Given the description of an element on the screen output the (x, y) to click on. 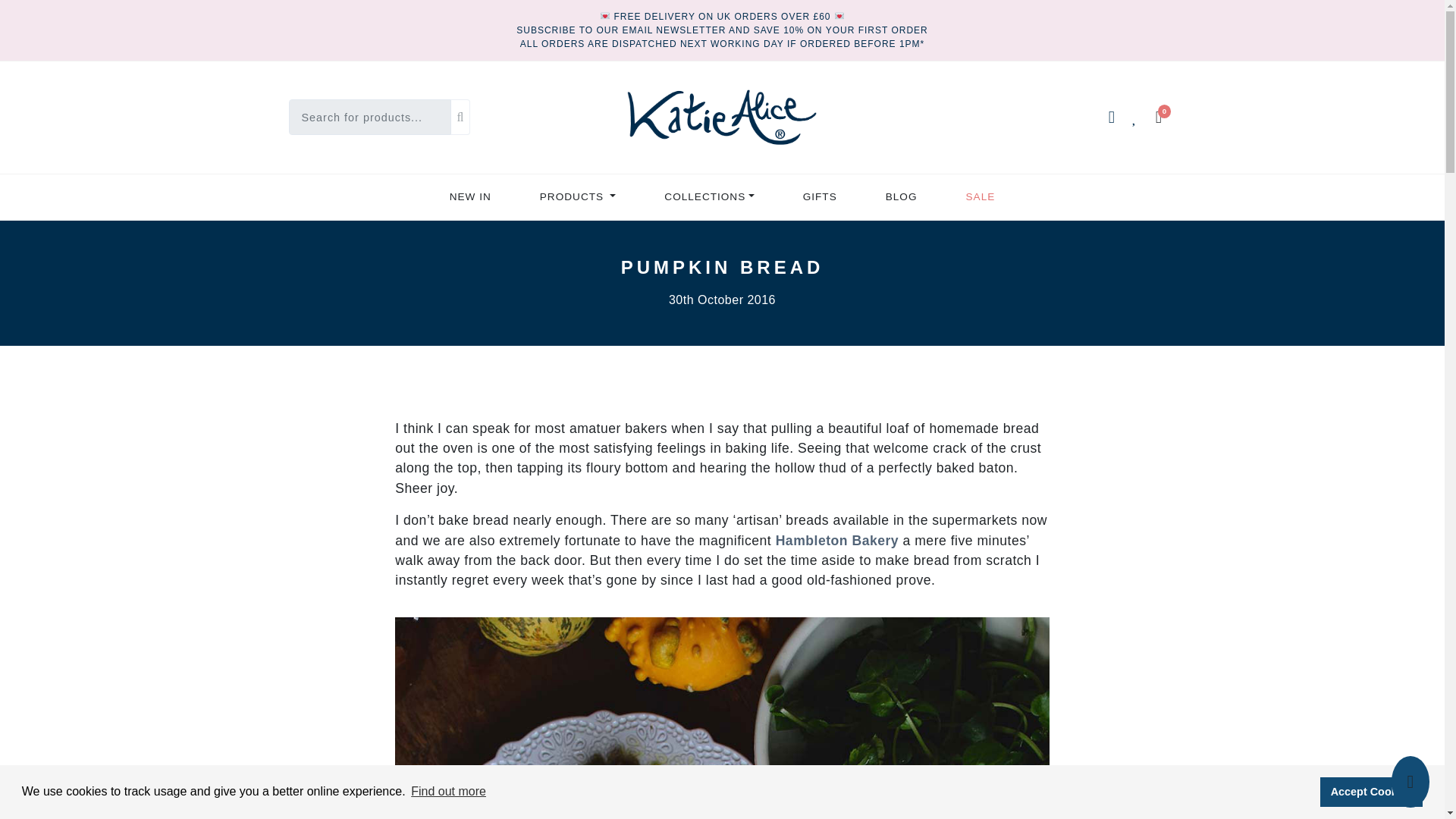
GIFTS (819, 197)
Find out more (448, 791)
PRODUCTS (577, 197)
BLOG (901, 197)
COLLECTIONS (708, 197)
SALE (981, 197)
Accept Cookies (1371, 791)
NEW IN (470, 197)
